Given the description of an element on the screen output the (x, y) to click on. 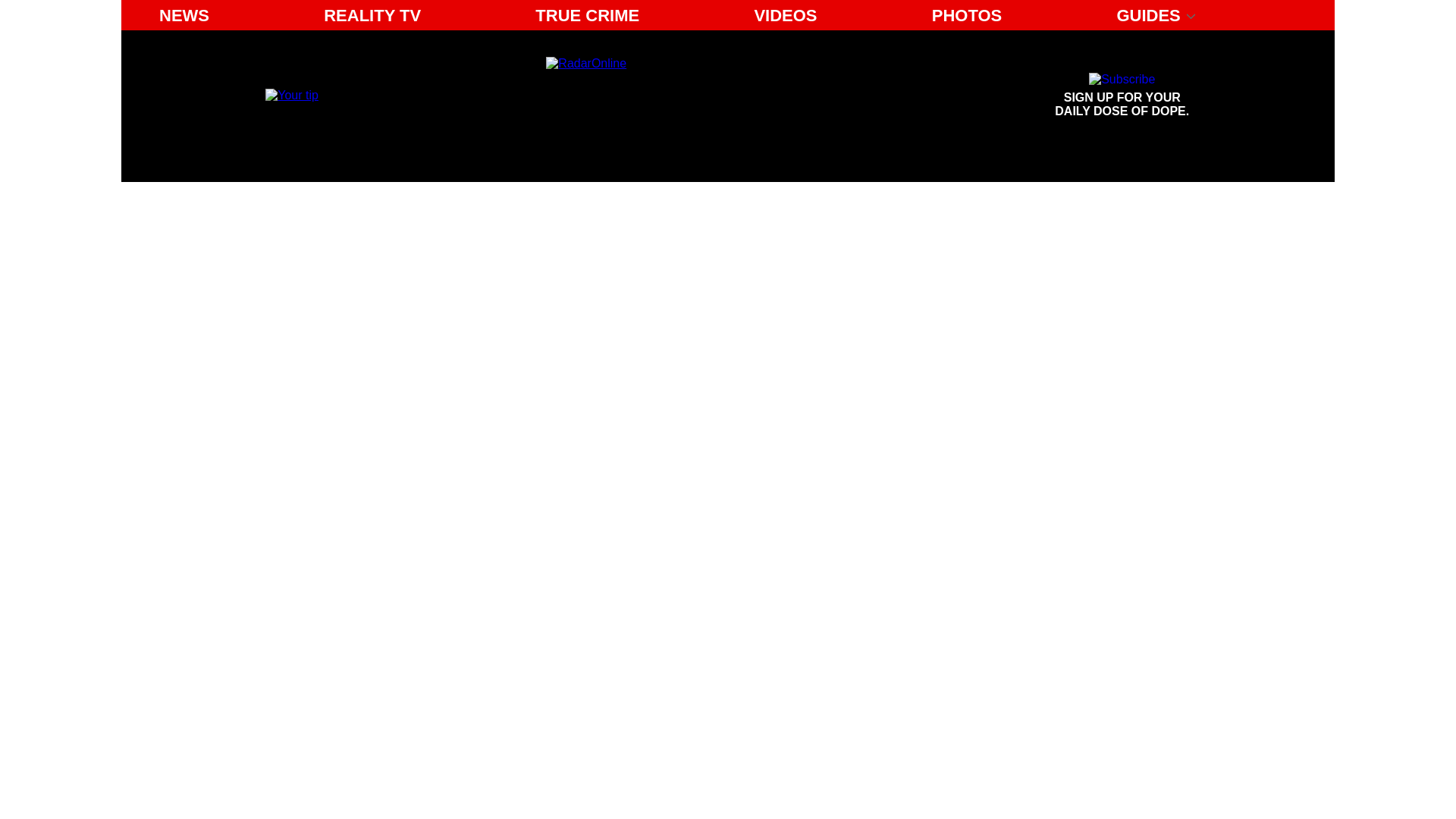
PHOTOS (967, 15)
TRUE CRIME (586, 15)
VIDEOS (784, 15)
Email us your tip (1122, 94)
NEWS (291, 94)
REALITY TV (183, 15)
Sign up for your daily dose of dope. (371, 15)
Radar Online (1122, 94)
